Given the description of an element on the screen output the (x, y) to click on. 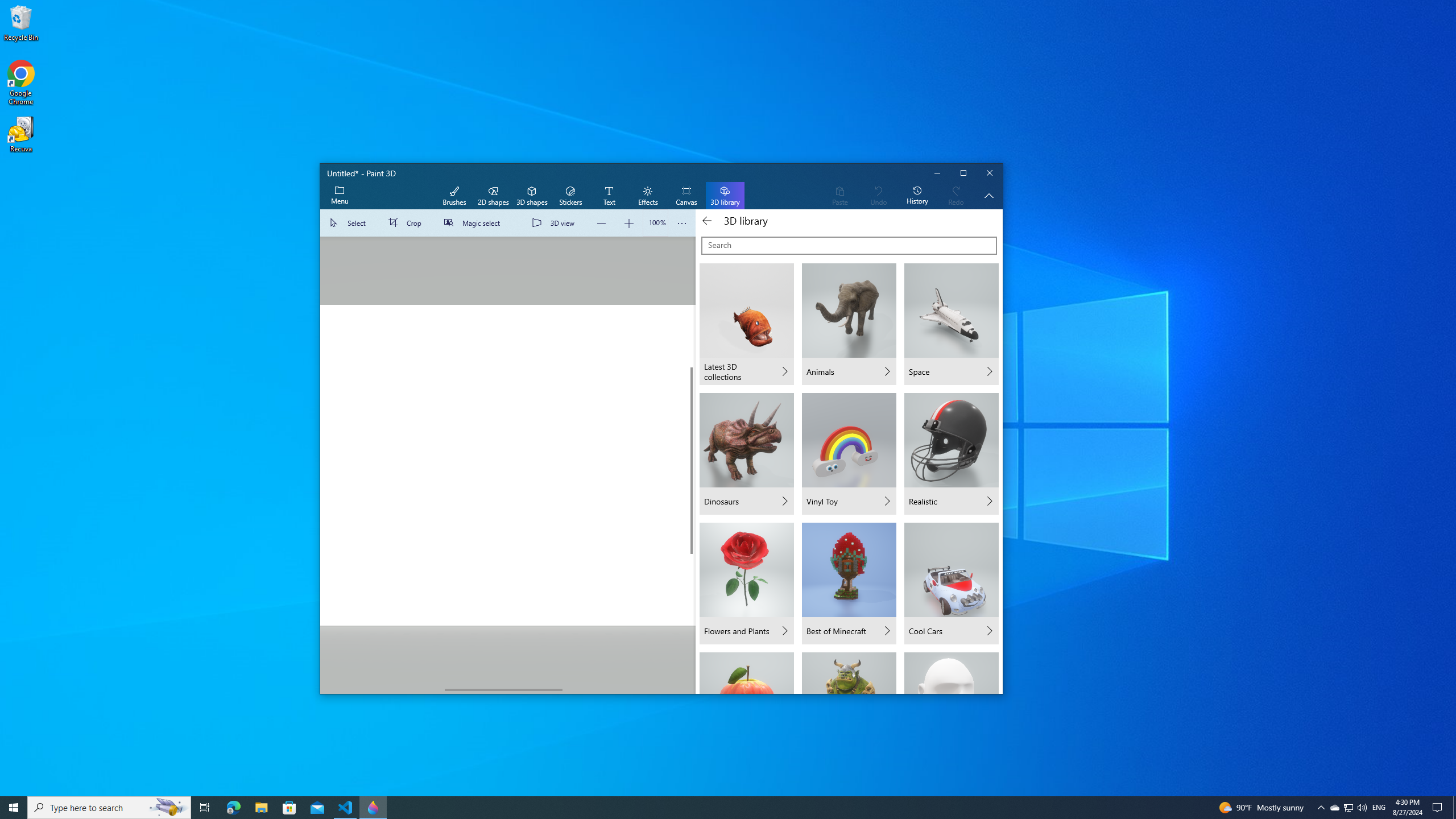
Effects (647, 195)
Redo (955, 195)
Dinosaurs (746, 453)
Zoom out (601, 222)
Vertical Large Increase (691, 619)
Horizontal Large Decrease (382, 689)
Search 3D Models (849, 245)
Paste (840, 195)
Text (608, 195)
Vertical Large Decrease (691, 301)
